Given the description of an element on the screen output the (x, y) to click on. 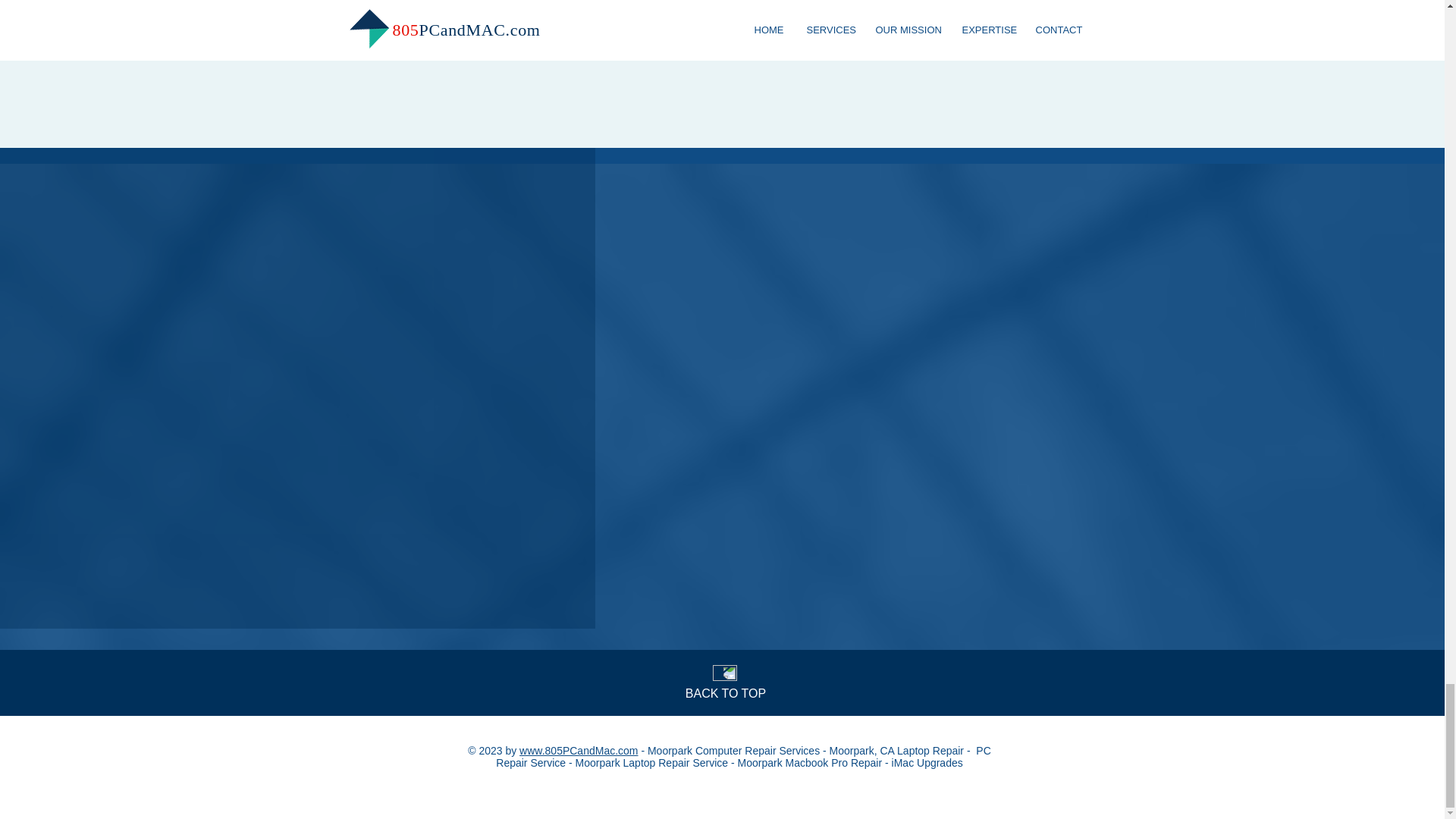
BACK TO TOP (725, 693)
www.805PCandMac.com (578, 750)
